Given the description of an element on the screen output the (x, y) to click on. 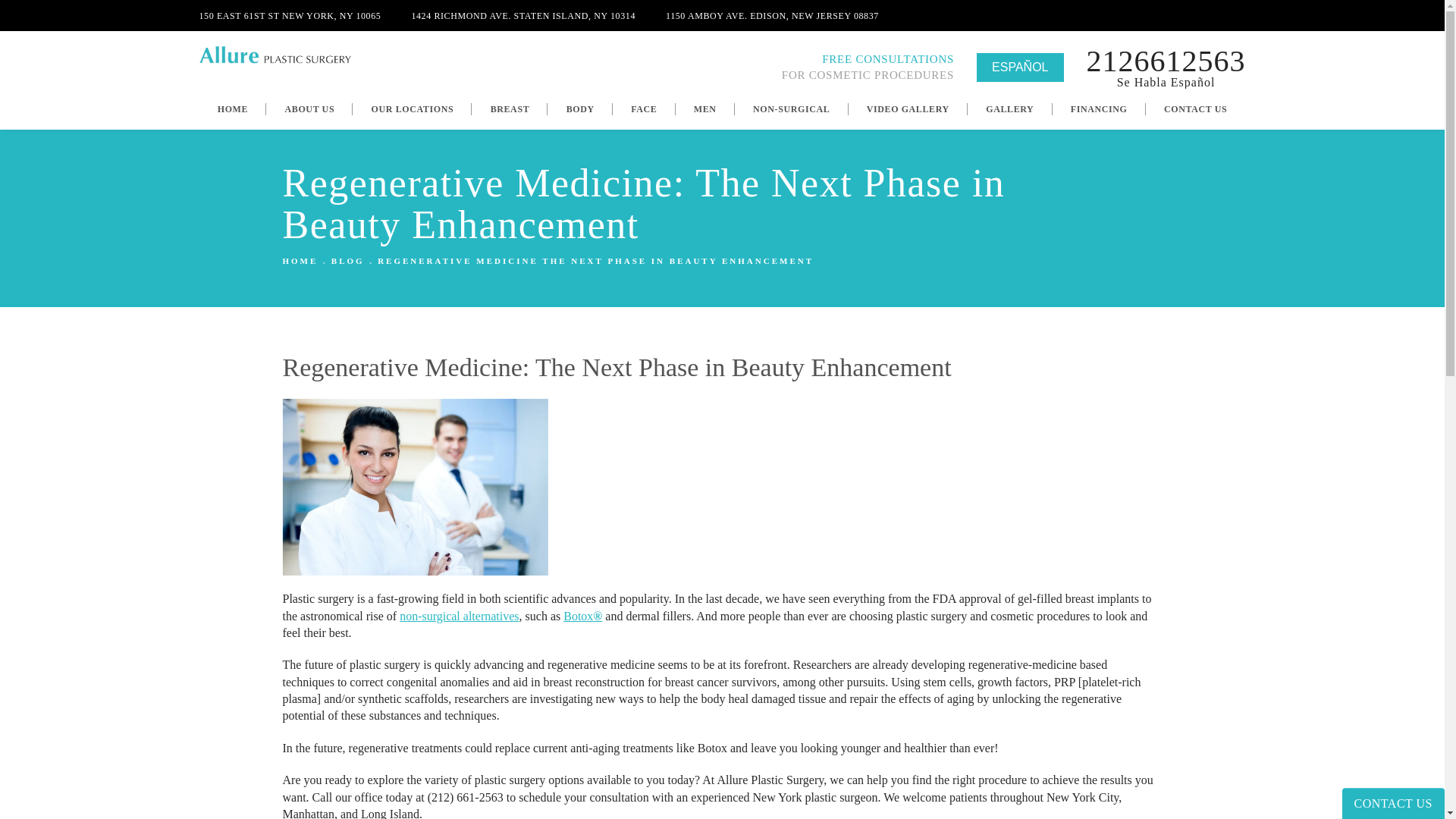
ABOUT US (309, 108)
Allure Plastic Surgery on Twitter (1174, 15)
Allure Plastic Surgery on Facebook (1233, 15)
Allure Plastic Surgery on Instagram (1114, 15)
HOME (232, 108)
Allure Plastic Surgery on Youtube (1204, 15)
BODY (579, 108)
OUR LOCATIONS (411, 108)
Allure Plastic Surgery on Facebook (1145, 15)
BREAST (509, 108)
